Given the description of an element on the screen output the (x, y) to click on. 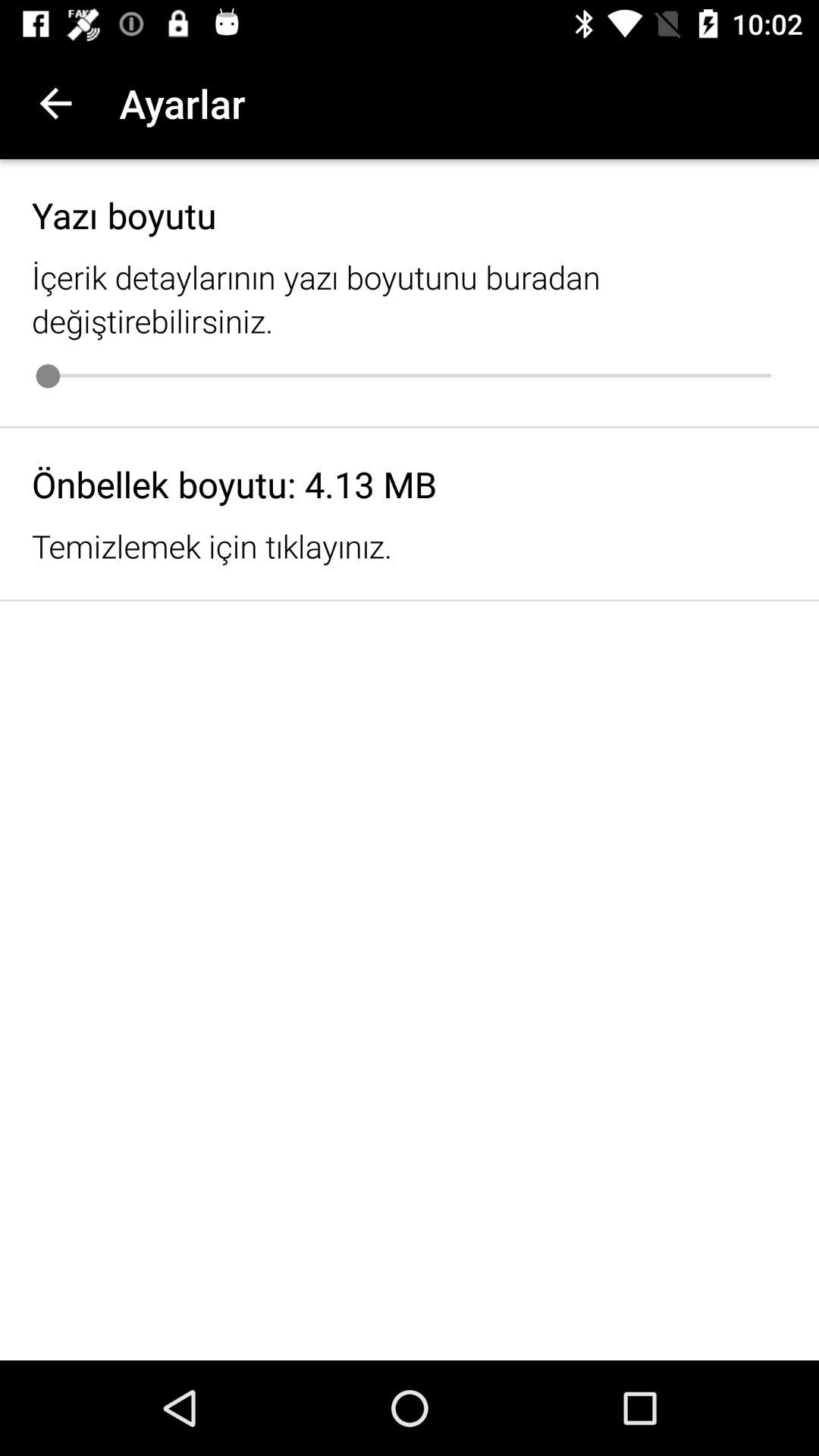
press the icon next to the ayarlar (55, 103)
